Given the description of an element on the screen output the (x, y) to click on. 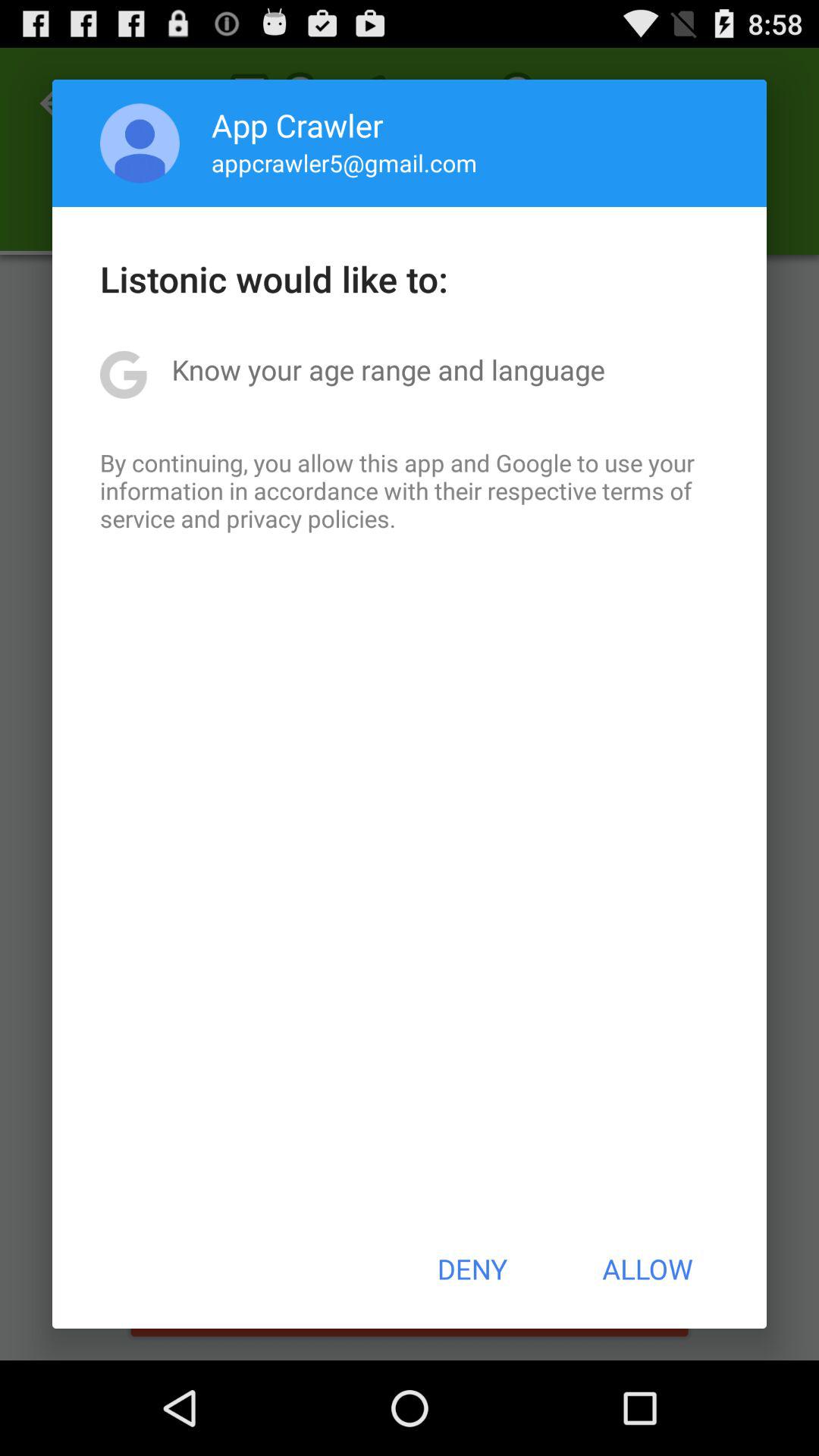
tap icon above the listonic would like item (139, 143)
